Given the description of an element on the screen output the (x, y) to click on. 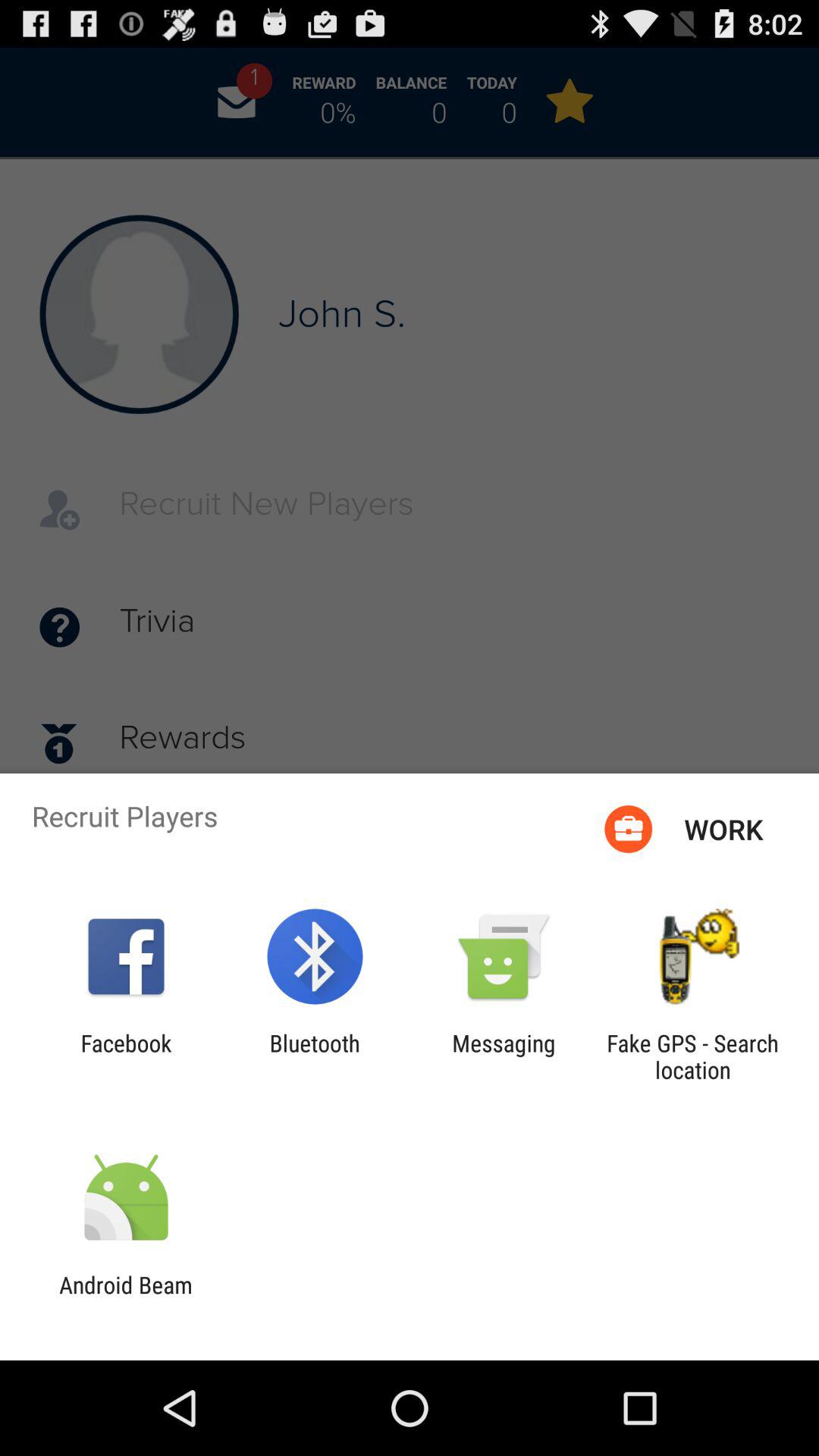
flip until bluetooth app (314, 1056)
